Given the description of an element on the screen output the (x, y) to click on. 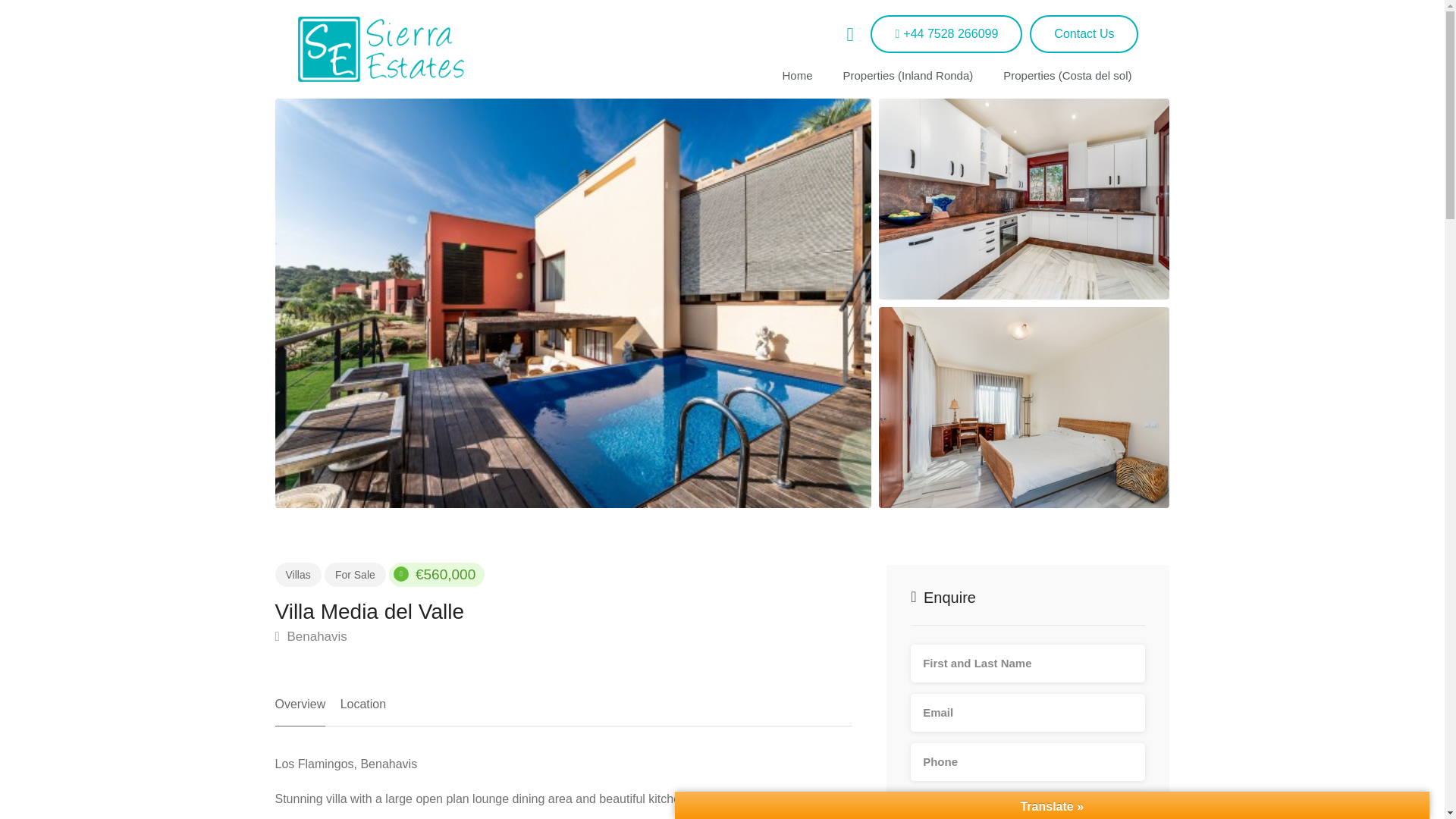
Home (797, 75)
Contact Us (1083, 34)
